Given the description of an element on the screen output the (x, y) to click on. 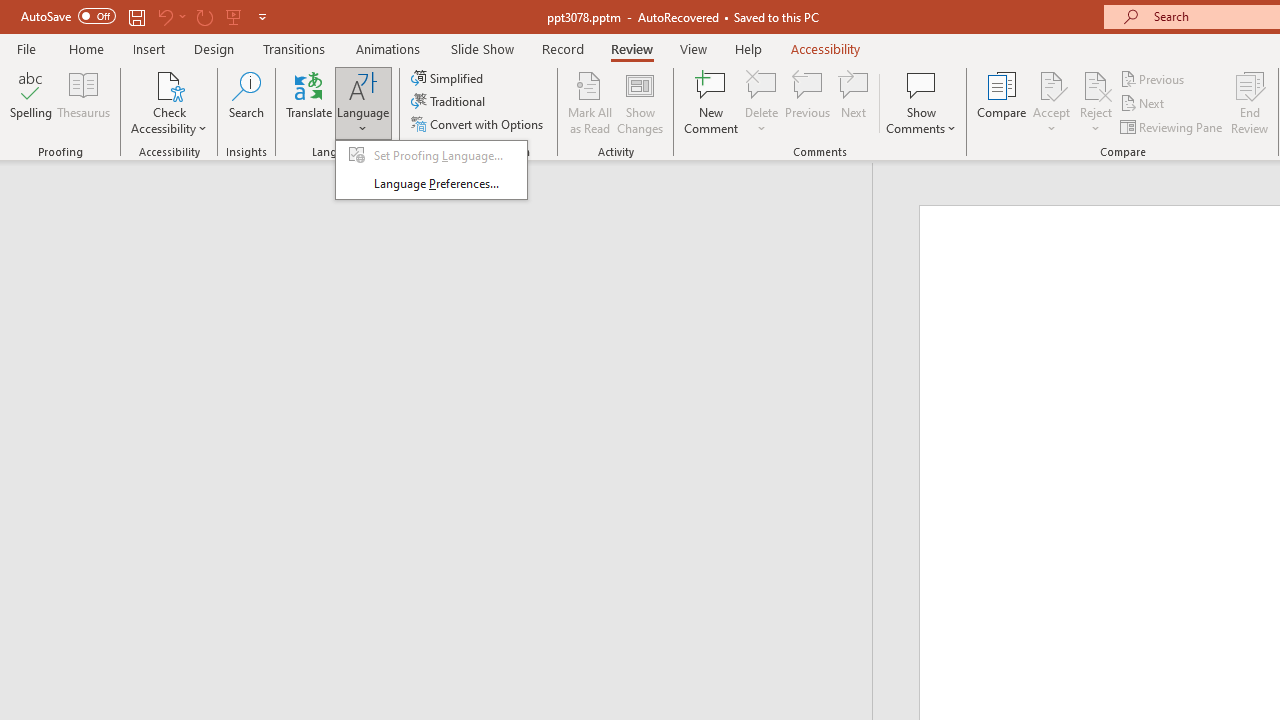
Reject Change (1096, 84)
Language (363, 102)
Traditional (449, 101)
Next (1144, 103)
End Review (1249, 102)
Compare (1002, 102)
Convert with Options... (479, 124)
New Comment (711, 102)
Show Changes (639, 102)
